Given the description of an element on the screen output the (x, y) to click on. 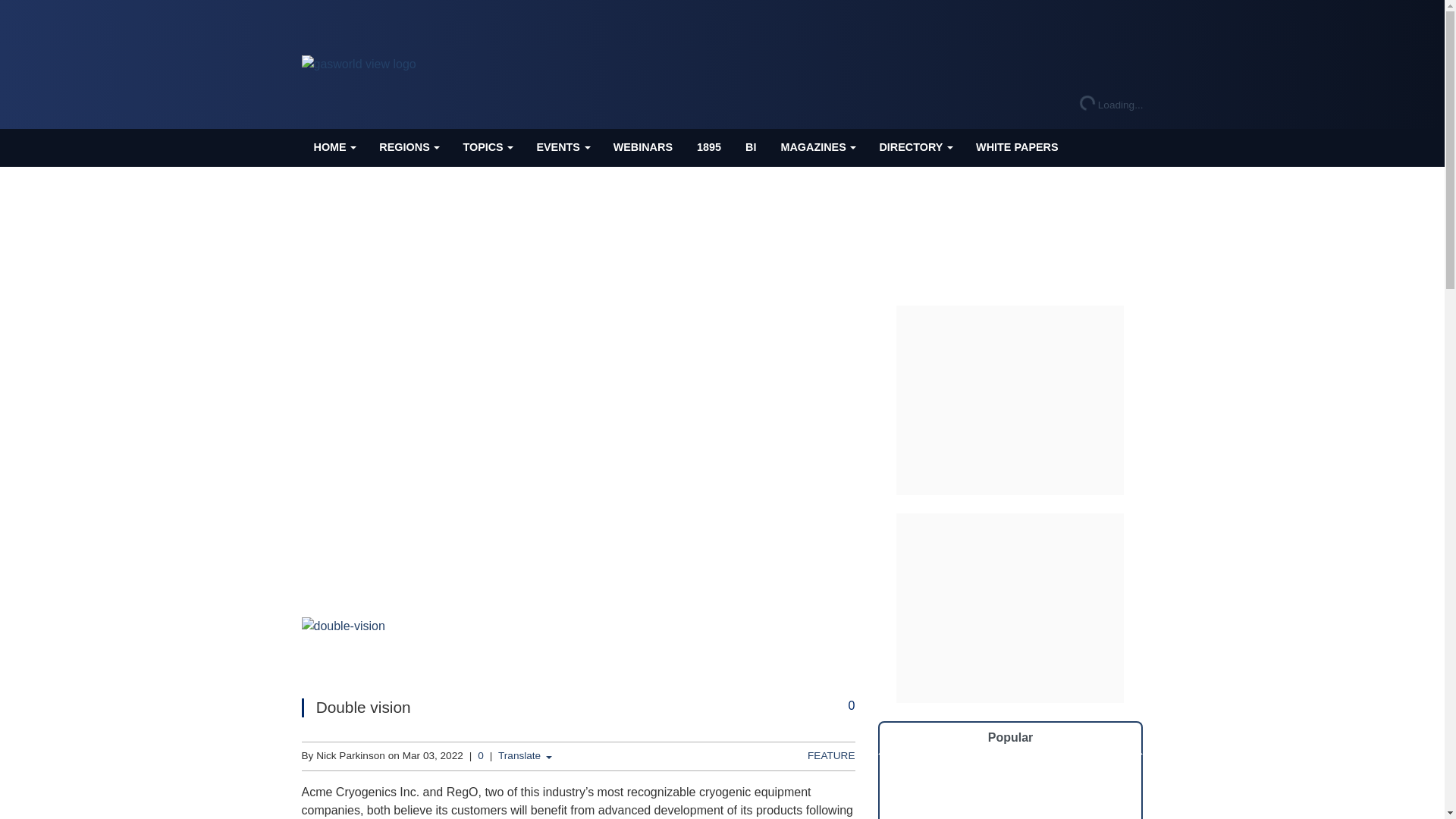
TOPICS (486, 146)
gasworld (358, 63)
Topics (486, 146)
Regions (407, 146)
REGIONS (407, 146)
Home (334, 146)
HOME (334, 146)
